Given the description of an element on the screen output the (x, y) to click on. 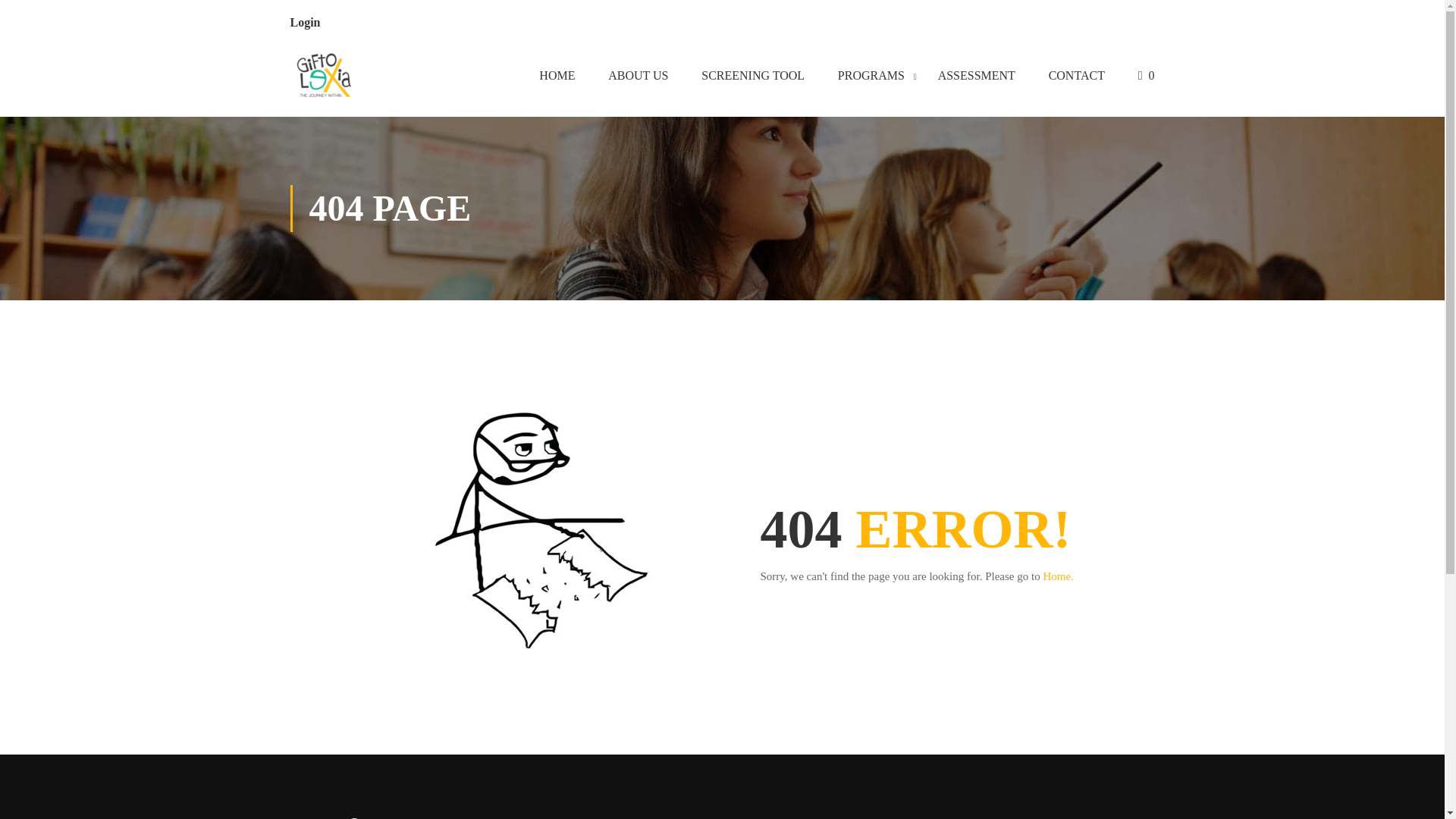
Giftolexia - About Giftolexia (323, 78)
Login (304, 21)
Home. (1057, 576)
View your shopping cart (1146, 78)
0 (1146, 78)
HOME (556, 78)
PROGRAMS (871, 78)
CONTACT (1076, 78)
ABOUT US (637, 78)
ASSESSMENT (976, 78)
SCREENING TOOL (752, 78)
